Given the description of an element on the screen output the (x, y) to click on. 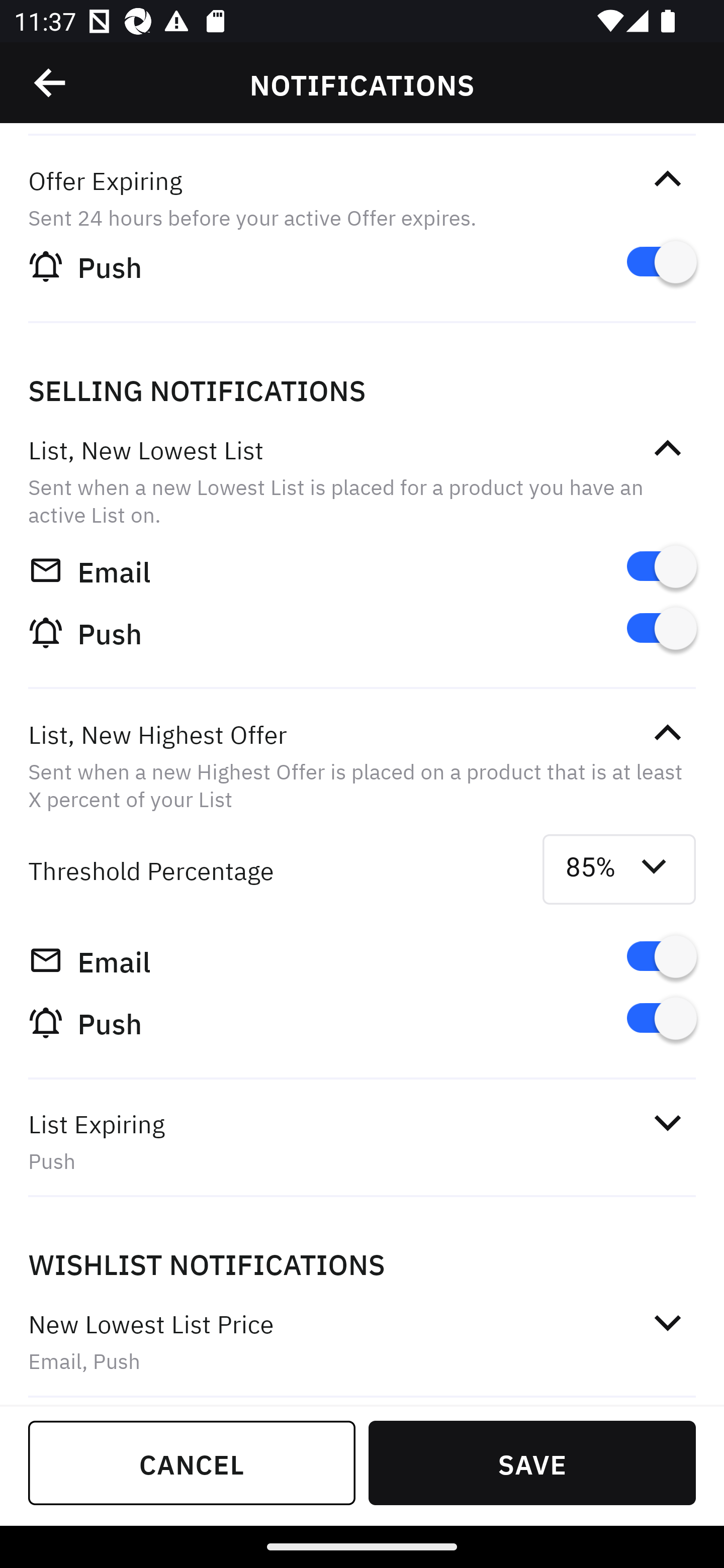
 (50, 83)
 (667, 179)
 (667, 448)
 (667, 732)
85%  (619, 869)
List Expiring  Push (361, 1141)
 (667, 1122)
New Lowest List Price  Email, Push (361, 1341)
 (667, 1322)
CANCEL (191, 1462)
SAVE (531, 1462)
